Given the description of an element on the screen output the (x, y) to click on. 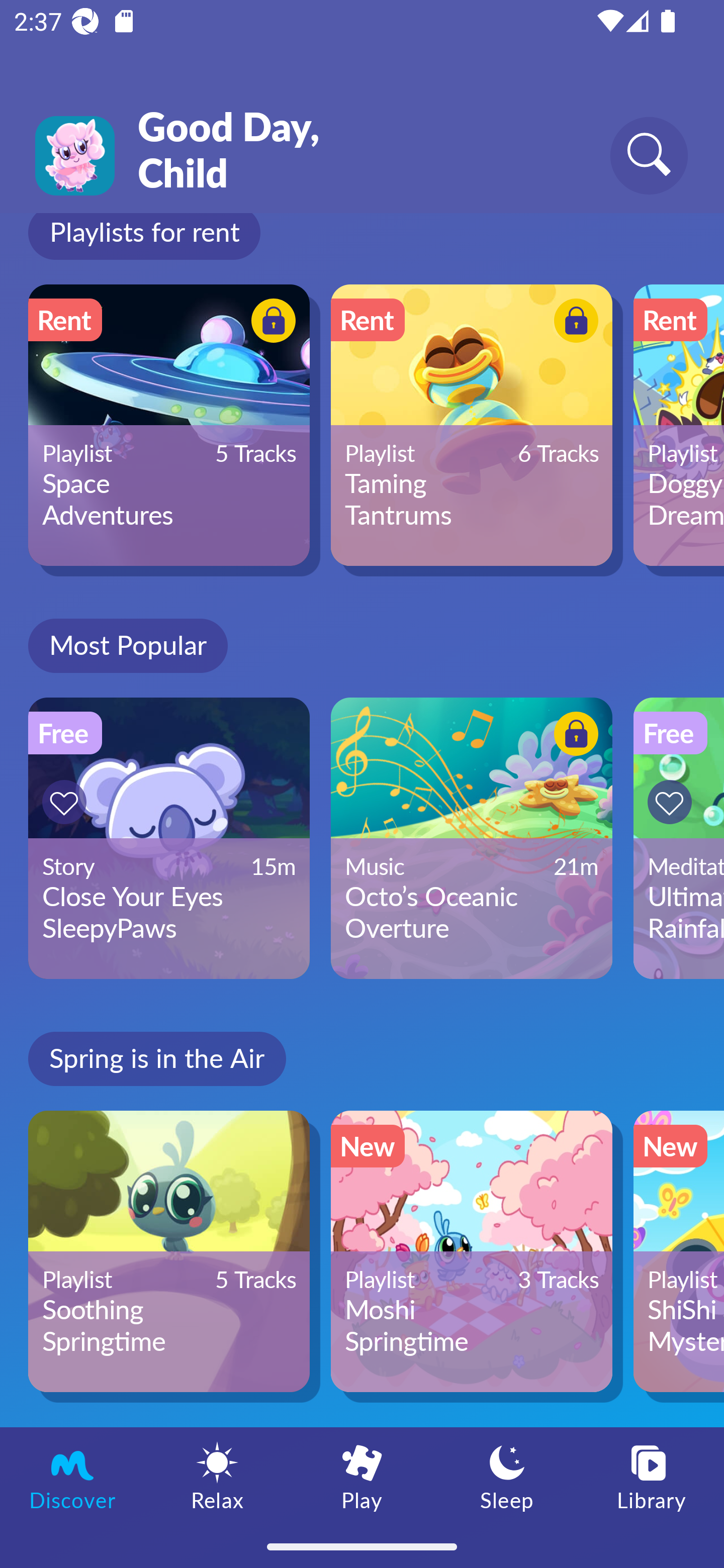
Search (648, 154)
Button (269, 322)
Button (573, 322)
Button (573, 736)
Button (67, 801)
Button (672, 801)
Relax (216, 1475)
Play (361, 1475)
Sleep (506, 1475)
Library (651, 1475)
